Given the description of an element on the screen output the (x, y) to click on. 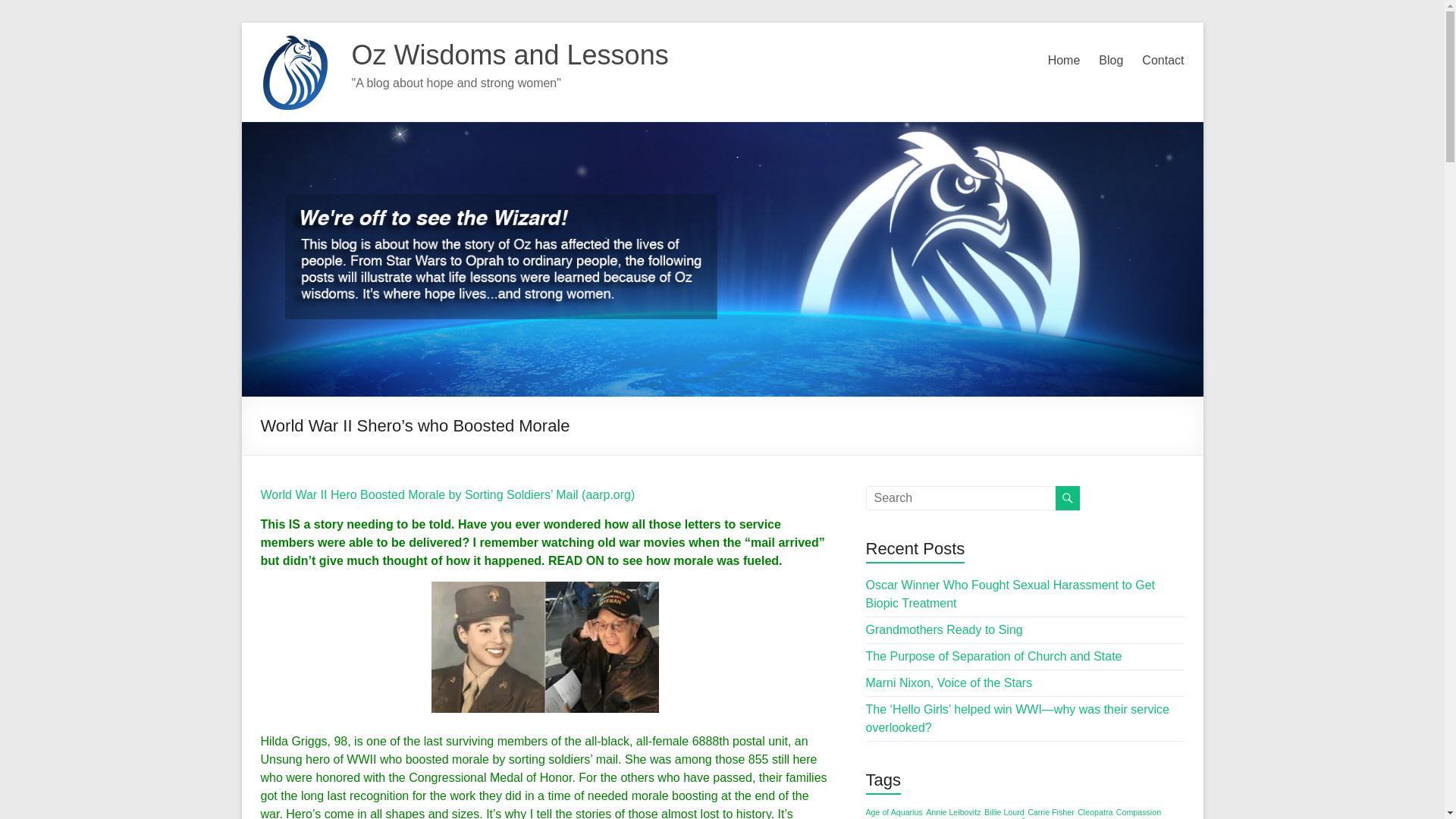
Contact (1162, 60)
Marni Nixon, Voice of the Stars (949, 682)
Oz Wisdoms and Lessons (510, 54)
Carrie Fisher (1050, 811)
Age of Aquarius (894, 811)
The Purpose of Separation of Church and State (994, 656)
Earth Day (1028, 816)
Annie Leibovitz (952, 811)
Billie Lourd (1004, 811)
Compassion (1138, 811)
Grandmothers Ready to Sing (944, 629)
Cleopatra (1094, 811)
Oz Wisdoms and Lessons (510, 54)
